Given the description of an element on the screen output the (x, y) to click on. 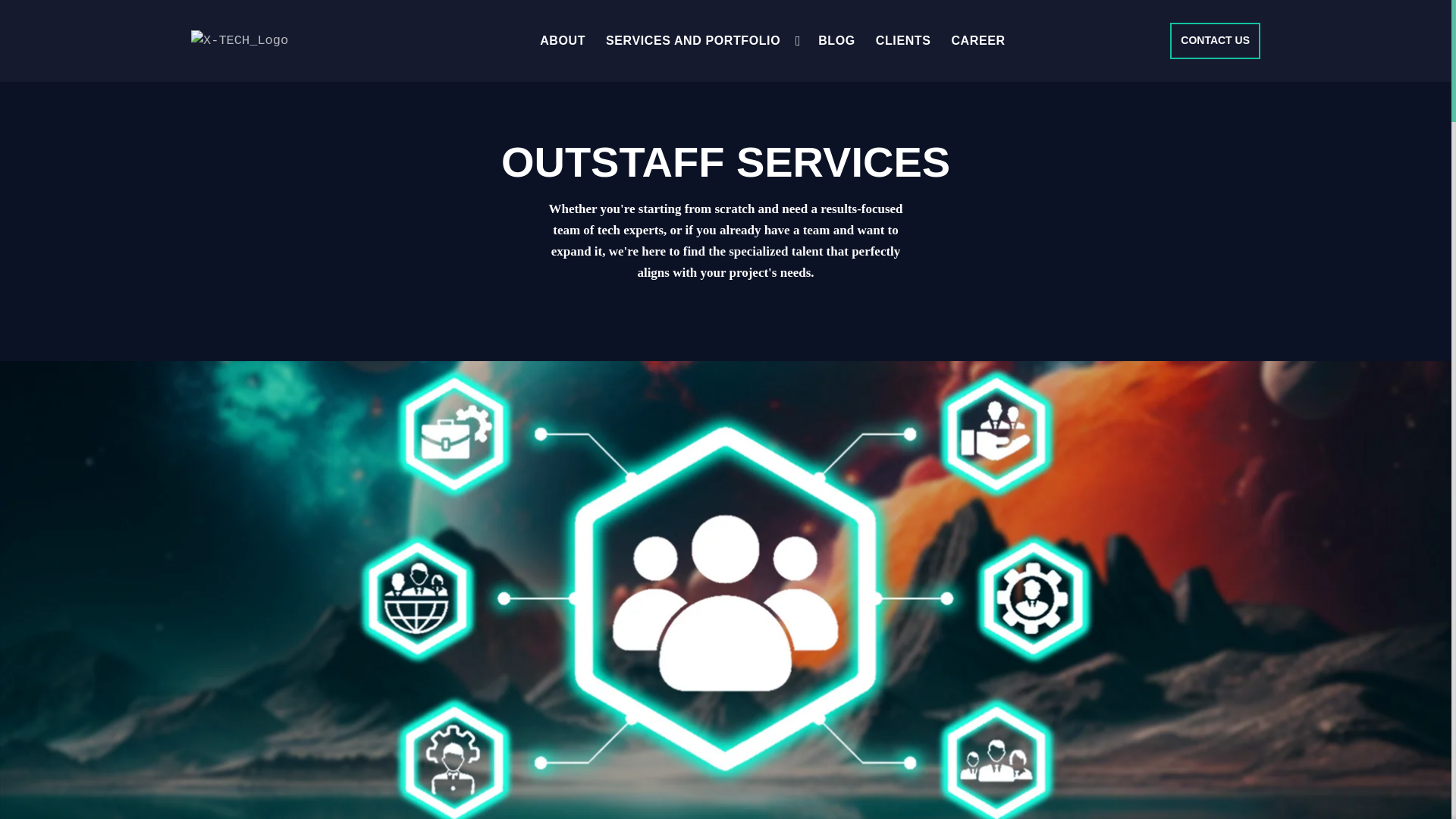
ABOUT (572, 40)
CLIENTS (914, 40)
CAREER (987, 40)
BLOG (847, 40)
SERVICES AND PORTFOLIO (702, 40)
CONTACT US (1215, 40)
